Given the description of an element on the screen output the (x, y) to click on. 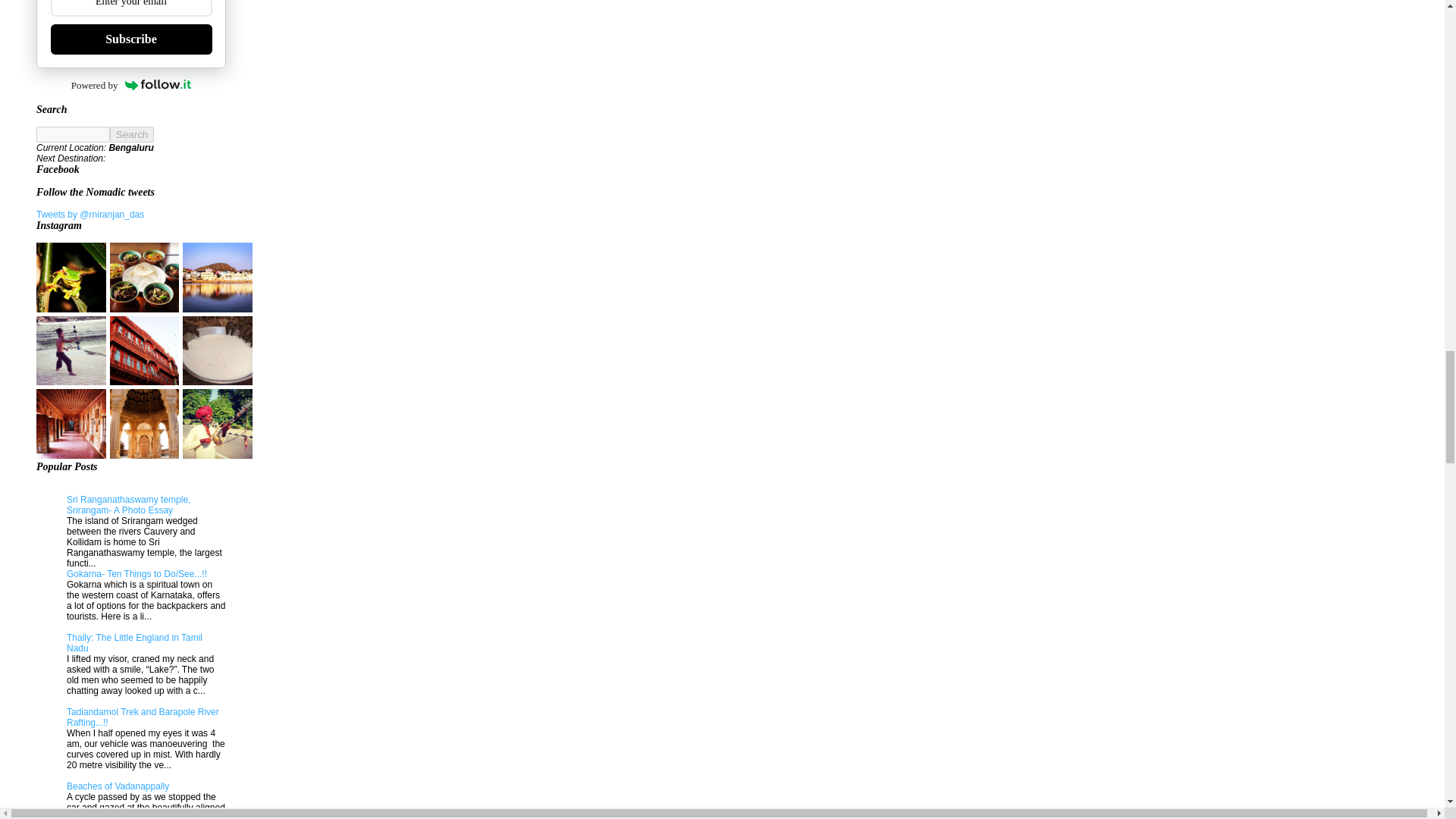
search (73, 134)
search (132, 134)
Search (132, 134)
Search (132, 134)
